Given the description of an element on the screen output the (x, y) to click on. 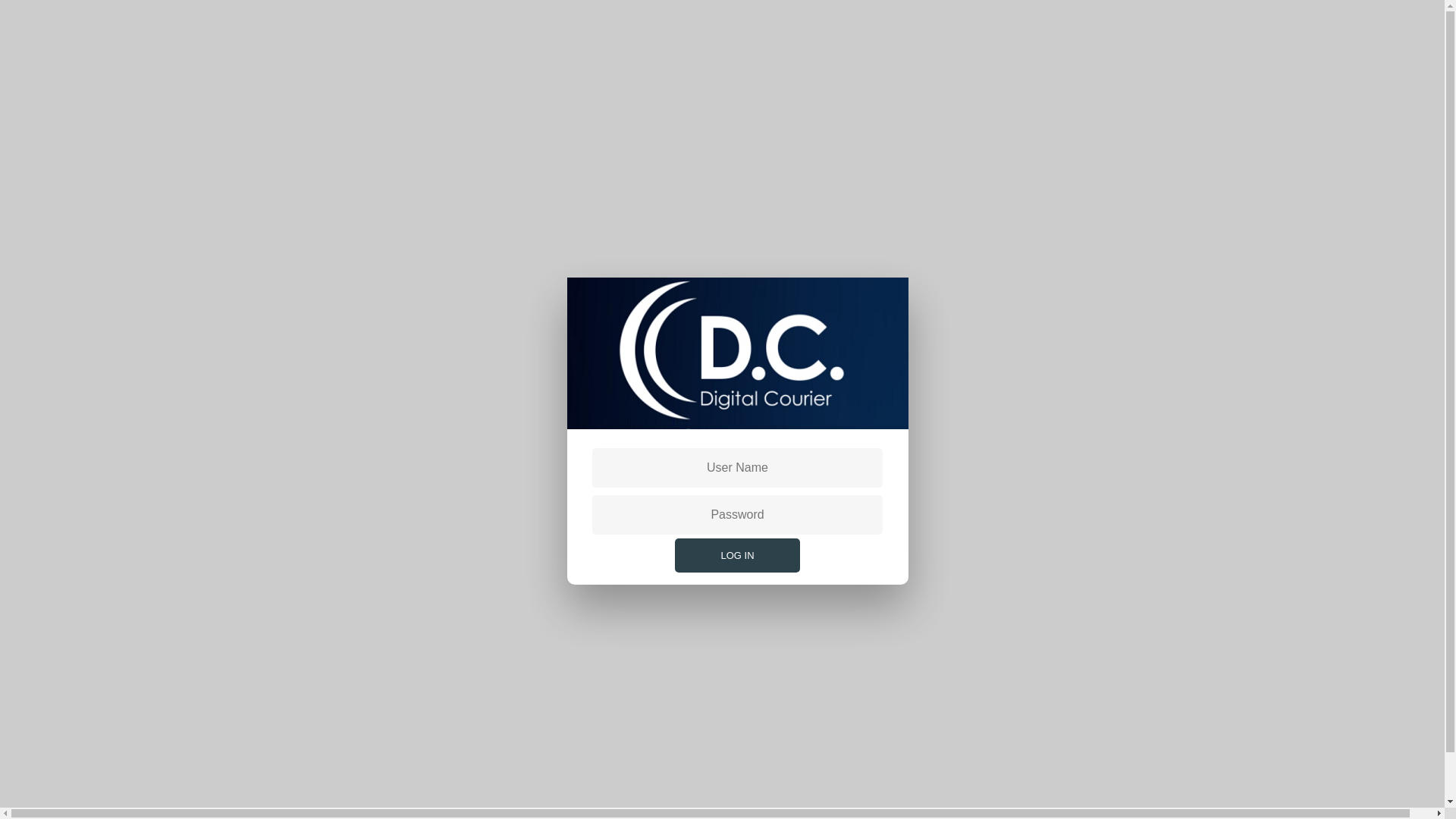
Log In Element type: text (736, 555)
